Given the description of an element on the screen output the (x, y) to click on. 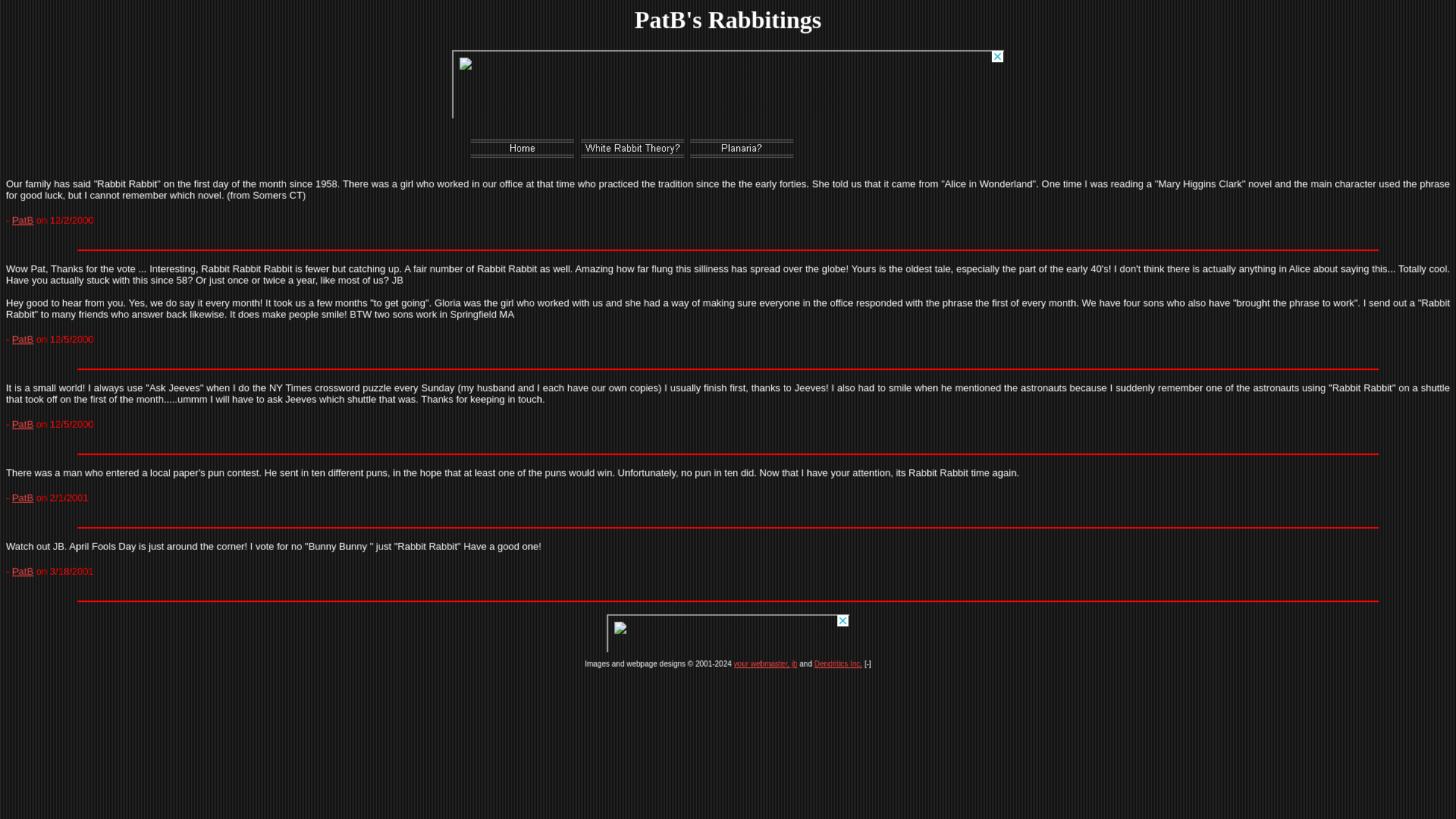
Click to see all PatB's Rabbitings (22, 338)
3rd party ad content (727, 83)
Click to see all PatB's Rabbitings (22, 423)
Click to see all PatB's Rabbitings (22, 220)
PatB (22, 338)
PatB (22, 571)
PatB (22, 423)
3rd party ad content (727, 632)
Dendritics Inc. (837, 664)
your webmaster, jb (765, 664)
PatB (22, 220)
Click to see all PatB's Rabbitings (22, 497)
PatB (22, 497)
Click to see all PatB's Rabbitings (22, 571)
